Given the description of an element on the screen output the (x, y) to click on. 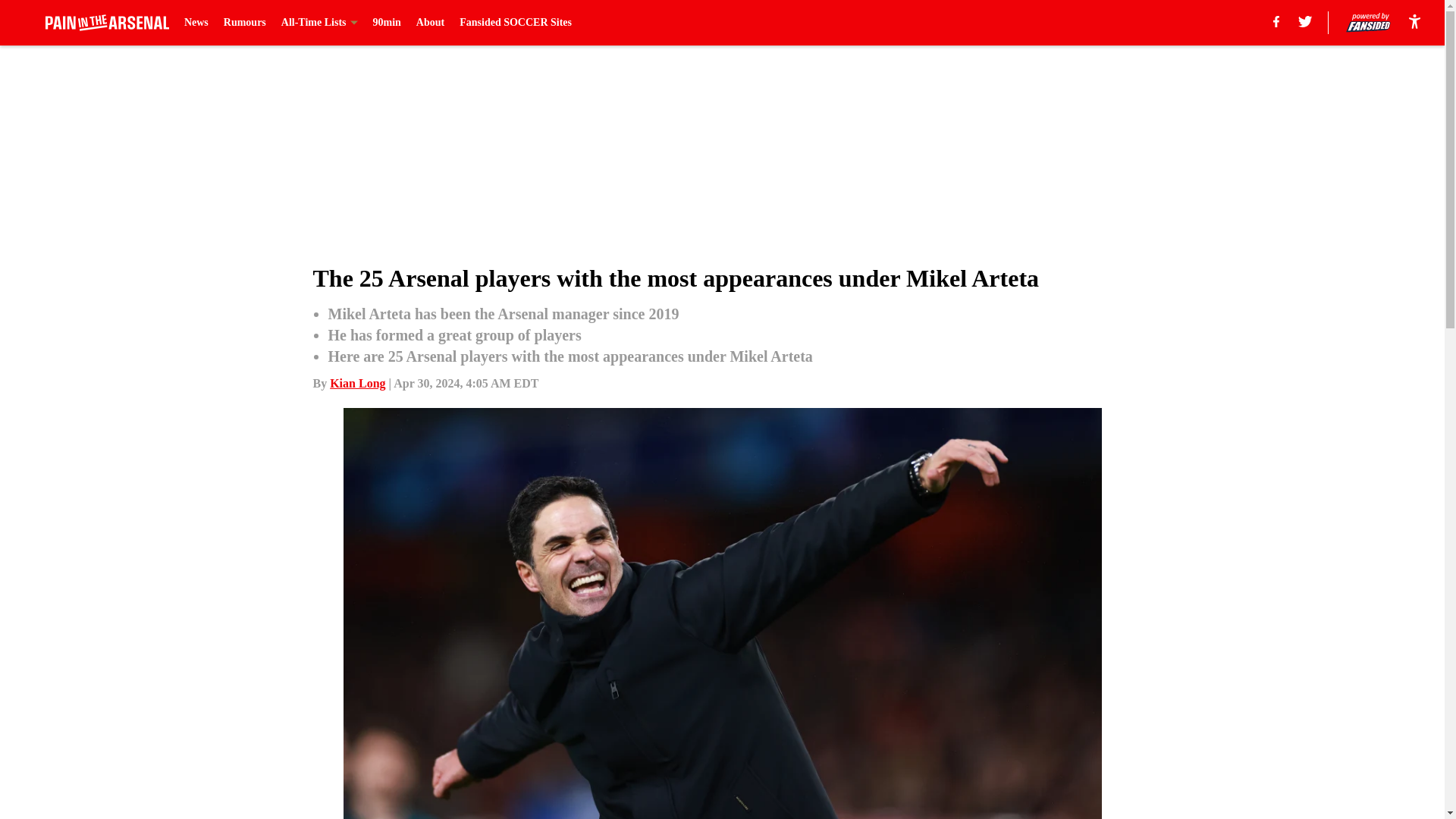
Rumours (245, 22)
90min (386, 22)
News (196, 22)
About (430, 22)
Fansided SOCCER Sites (516, 22)
Kian Long (357, 382)
